Given the description of an element on the screen output the (x, y) to click on. 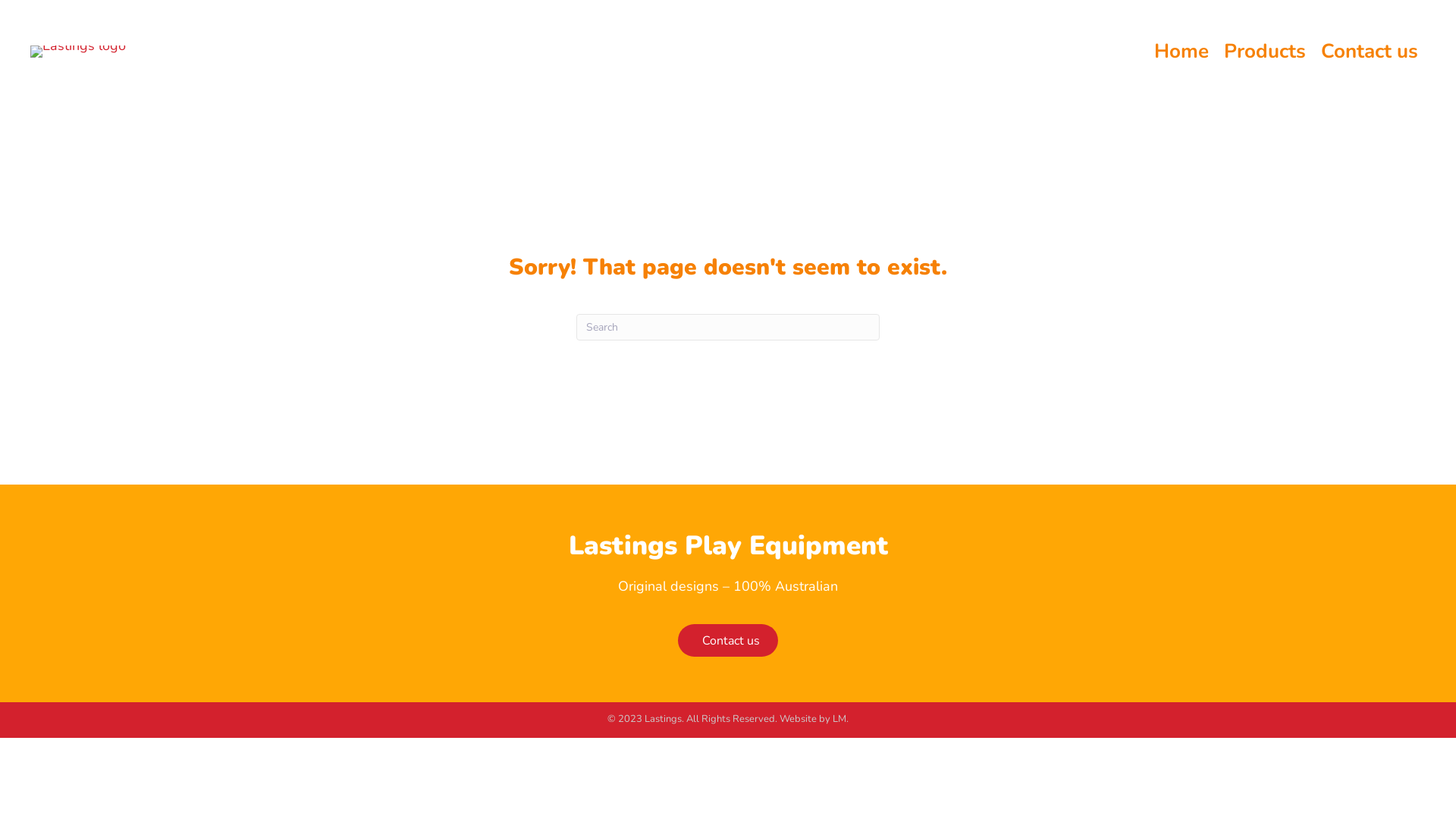
Contact us Element type: text (727, 640)
LM Element type: text (839, 718)
Type and press Enter to search. Element type: hover (727, 326)
Contact us Element type: text (1369, 51)
Home Element type: text (1181, 51)
Products Element type: text (1264, 51)
Lastings logo wood 200px Element type: hover (77, 51)
